Given the description of an element on the screen output the (x, y) to click on. 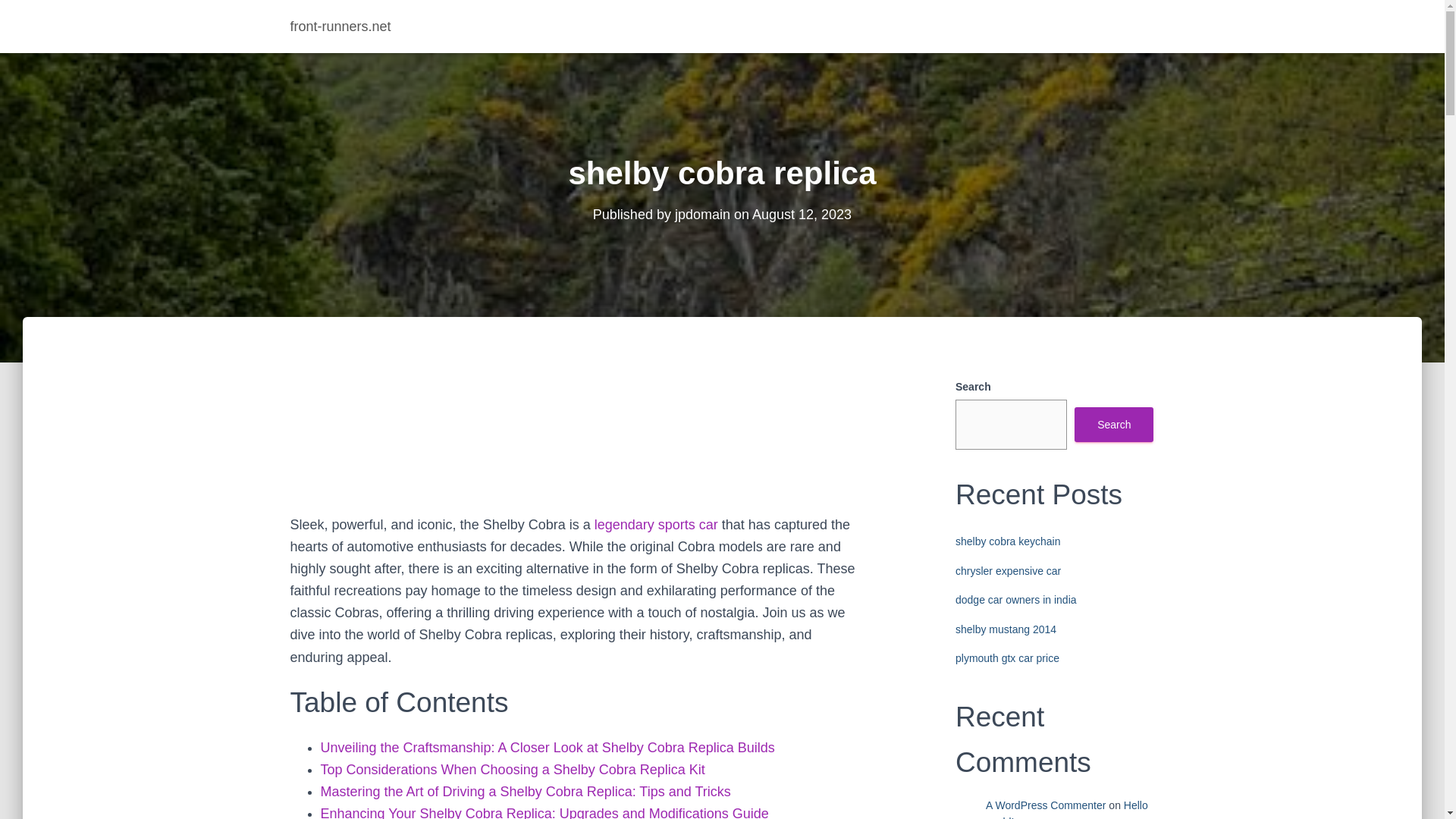
plymouth gtx car price (1007, 657)
Search (1113, 425)
chrysler expensive car (1008, 571)
shelby cobra interior (655, 524)
front-runners.net (341, 26)
Hello world! (1066, 809)
A WordPress Commenter (1045, 805)
shelby cobra keychain (1008, 541)
front-runners.net (341, 26)
